Given the description of an element on the screen output the (x, y) to click on. 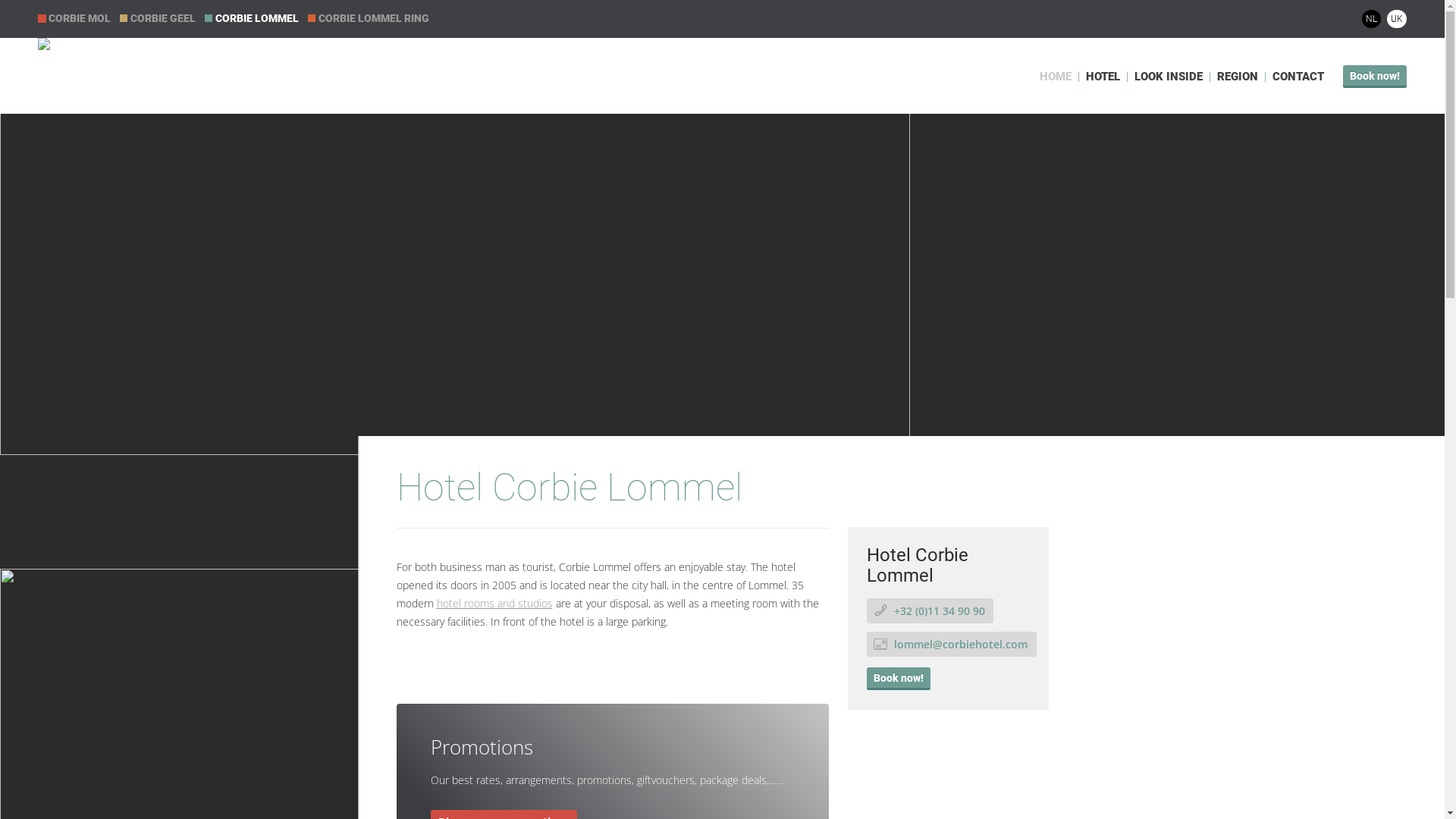
UK Element type: text (1396, 18)
HOTEL Element type: text (1102, 76)
LOOK INSIDE Element type: text (1168, 76)
lommel@corbiehotel.com Element type: text (950, 643)
CORBIE LOMMEL RING Element type: text (371, 18)
HOME Element type: text (1055, 76)
hotel rooms and studios Element type: text (494, 603)
Book now! Element type: text (897, 678)
CORBIE LOMMEL Element type: text (254, 18)
CORBIE MOL Element type: text (76, 18)
NL Element type: text (1370, 18)
Book now! Element type: text (1374, 76)
CONTACT Element type: text (1298, 76)
CORBIE GEEL Element type: text (160, 18)
REGION Element type: text (1237, 76)
